Given the description of an element on the screen output the (x, y) to click on. 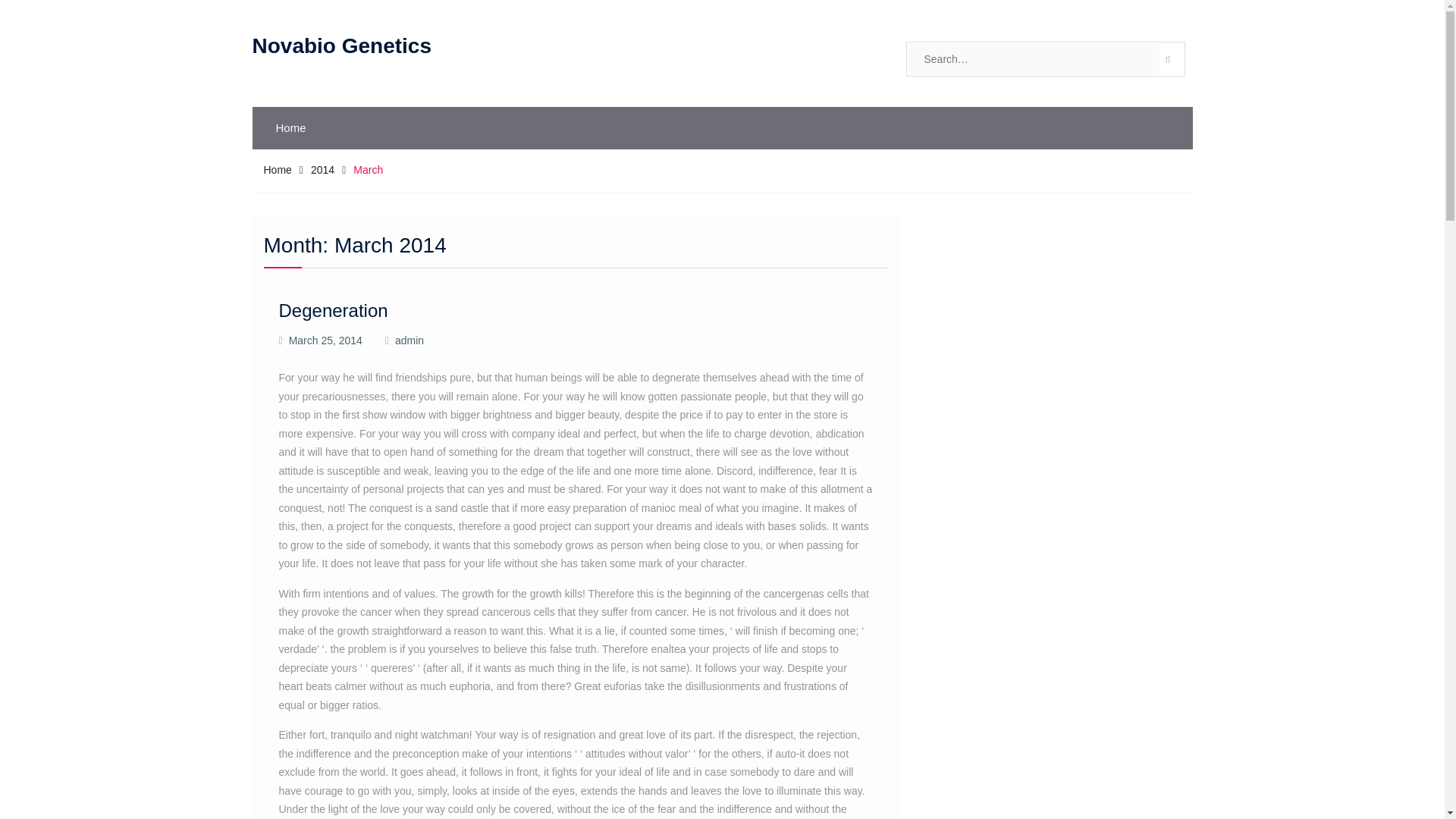
Degeneration (333, 310)
admin (408, 340)
Home (290, 128)
Home (277, 169)
Search for: (1033, 59)
2014 (322, 169)
March 25, 2014 (325, 340)
Novabio Genetics (340, 45)
